Given the description of an element on the screen output the (x, y) to click on. 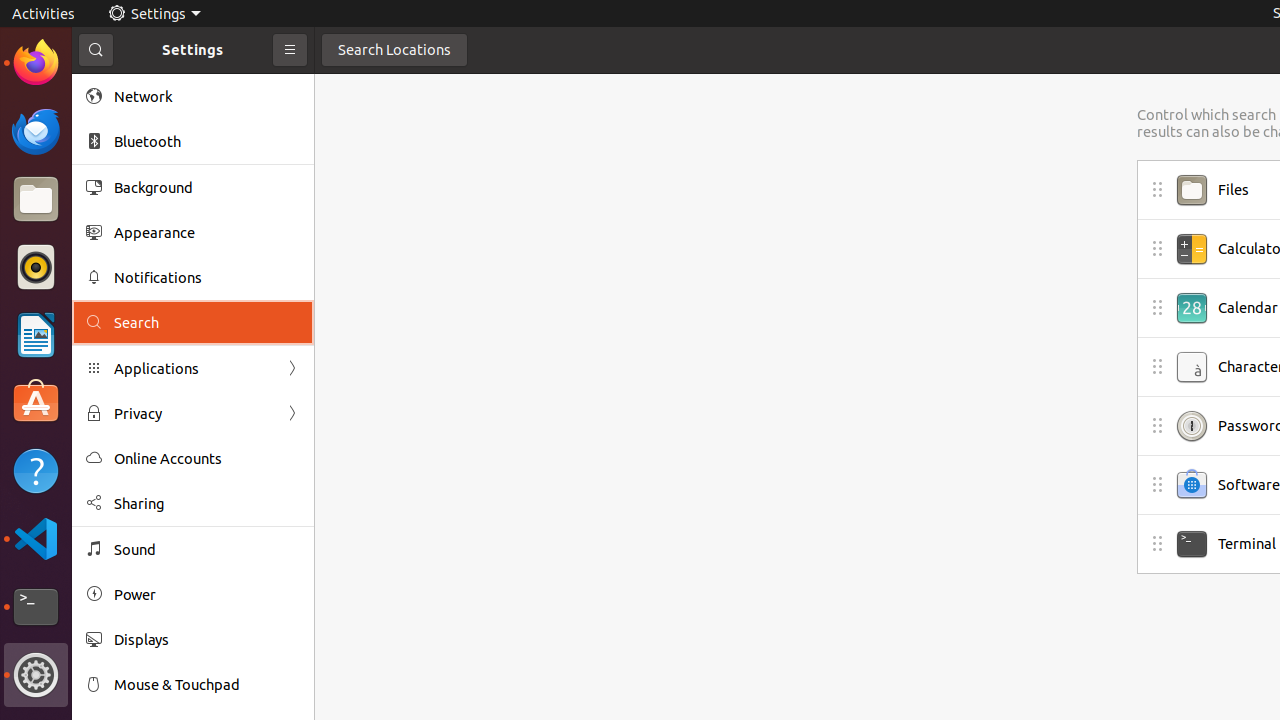
Background Element type: label (207, 187)
Online Accounts Element type: label (207, 458)
